Given the description of an element on the screen output the (x, y) to click on. 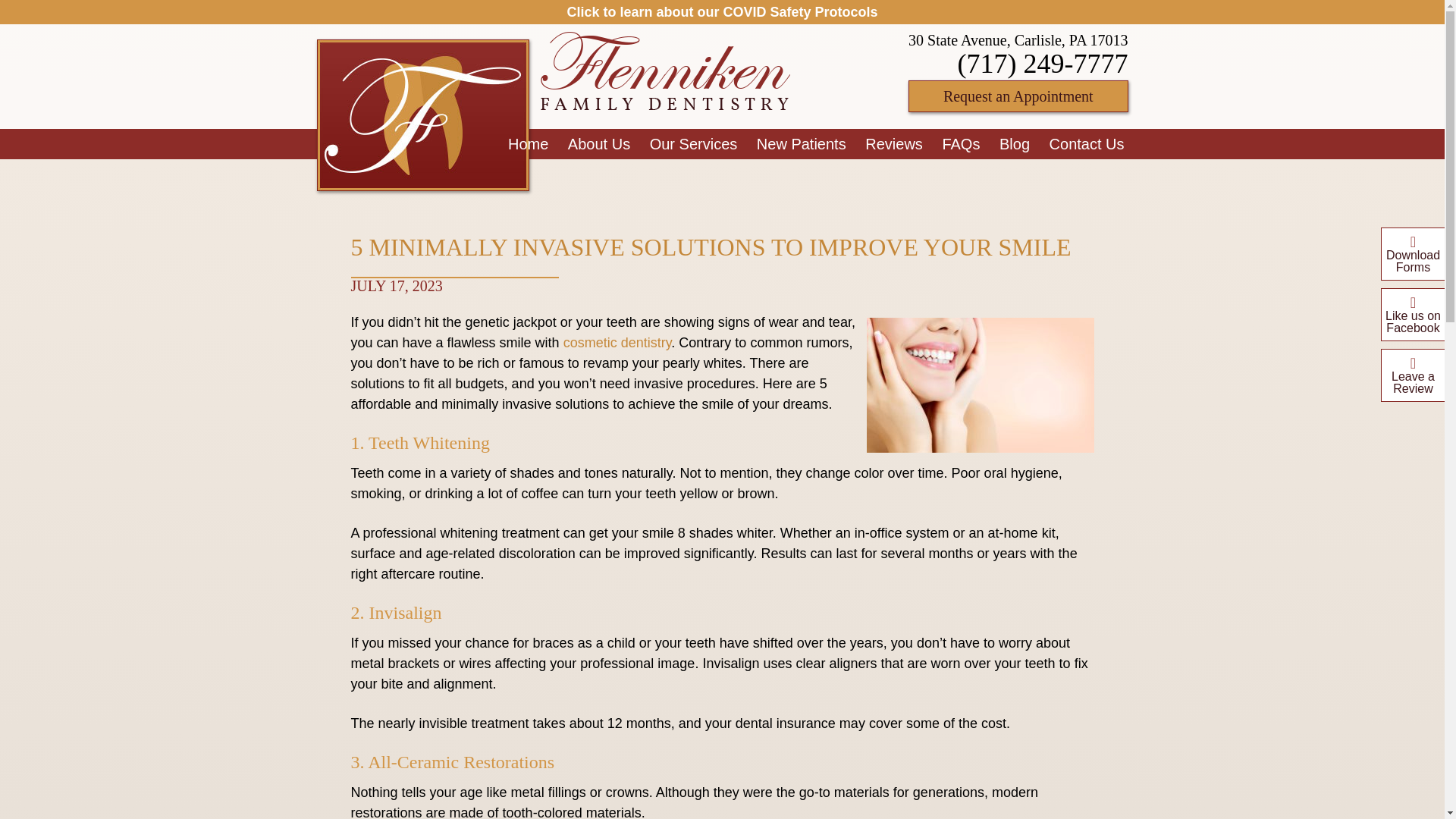
Reviews (893, 143)
Blog (1013, 143)
Our Services (693, 143)
Request an Appointment (1017, 96)
Click to learn about our COVID Safety Protocols (721, 11)
New Patients (801, 143)
30 State Avenue, Carlisle, PA 17013 (1017, 39)
FAQs (960, 143)
Home (528, 143)
About Us (598, 143)
